Given the description of an element on the screen output the (x, y) to click on. 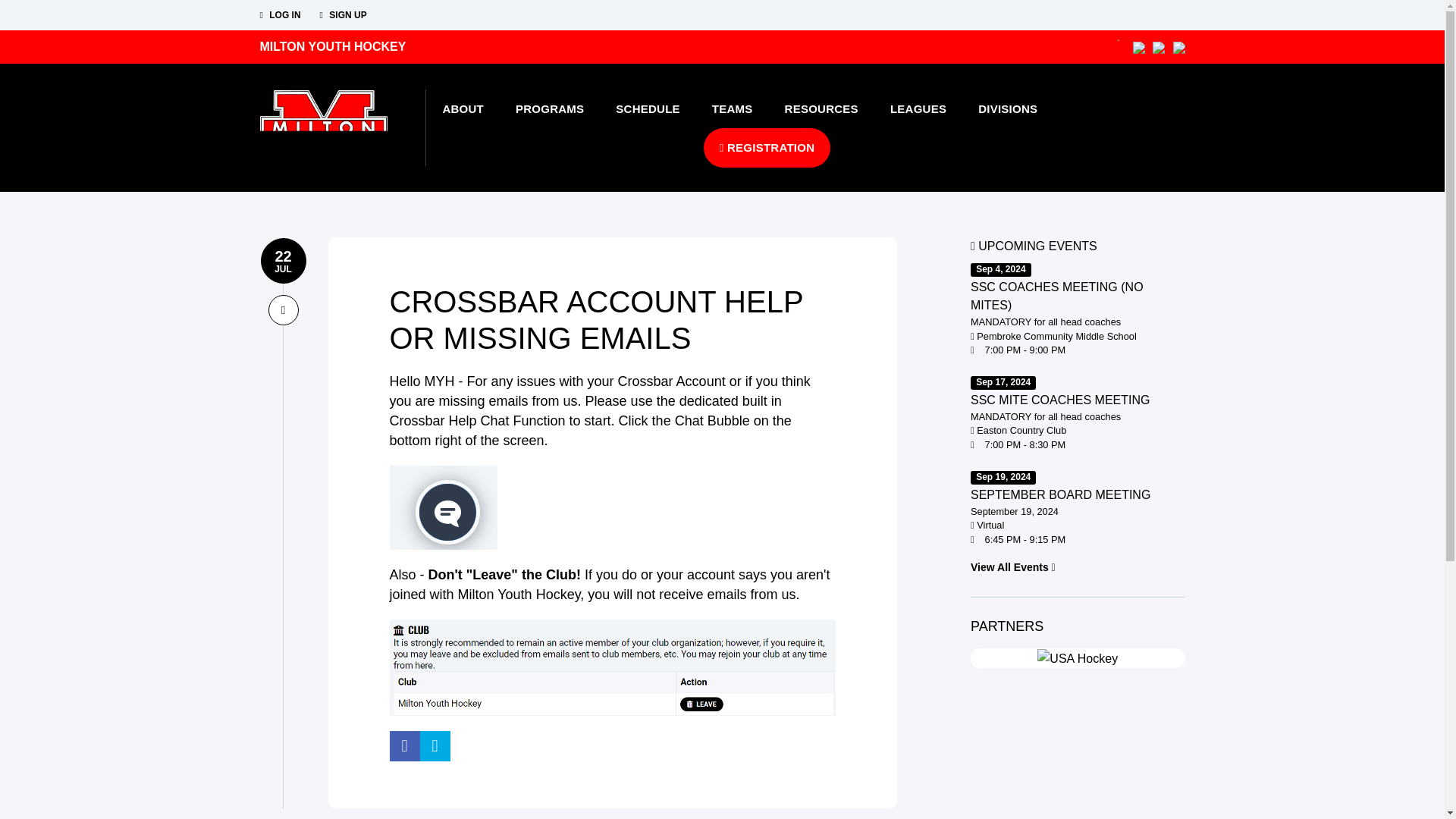
SCHEDULE (647, 108)
PROGRAMS (549, 108)
MILTON YOUTH HOCKEY (332, 46)
SIGN UP (343, 15)
ABOUT (462, 108)
LOG IN (279, 15)
